Given the description of an element on the screen output the (x, y) to click on. 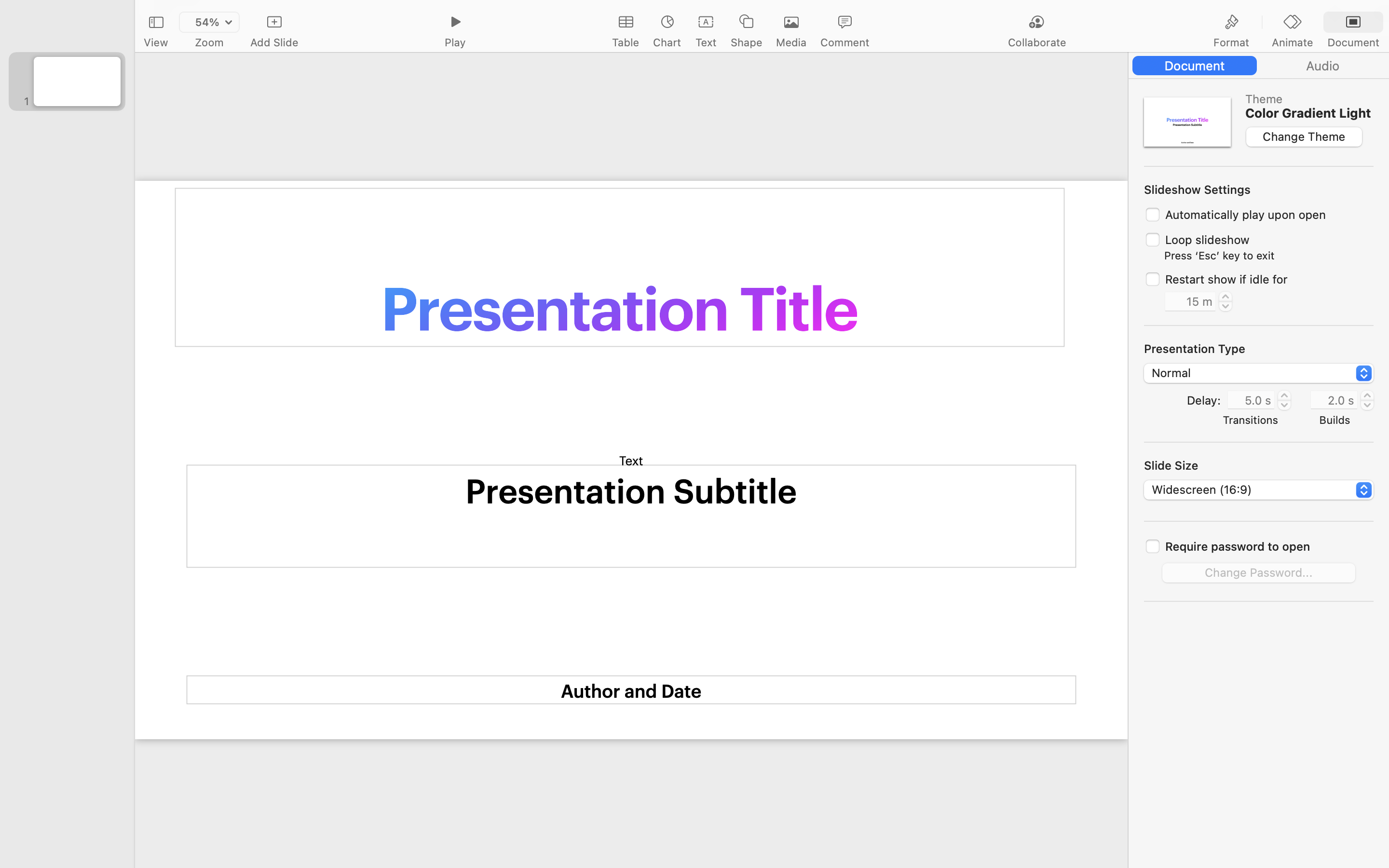
Presentation Type Element type: AXStaticText (1194, 348)
Normal Element type: AXPopUpButton (1259, 374)
Media Element type: AXStaticText (790, 42)
